Given the description of an element on the screen output the (x, y) to click on. 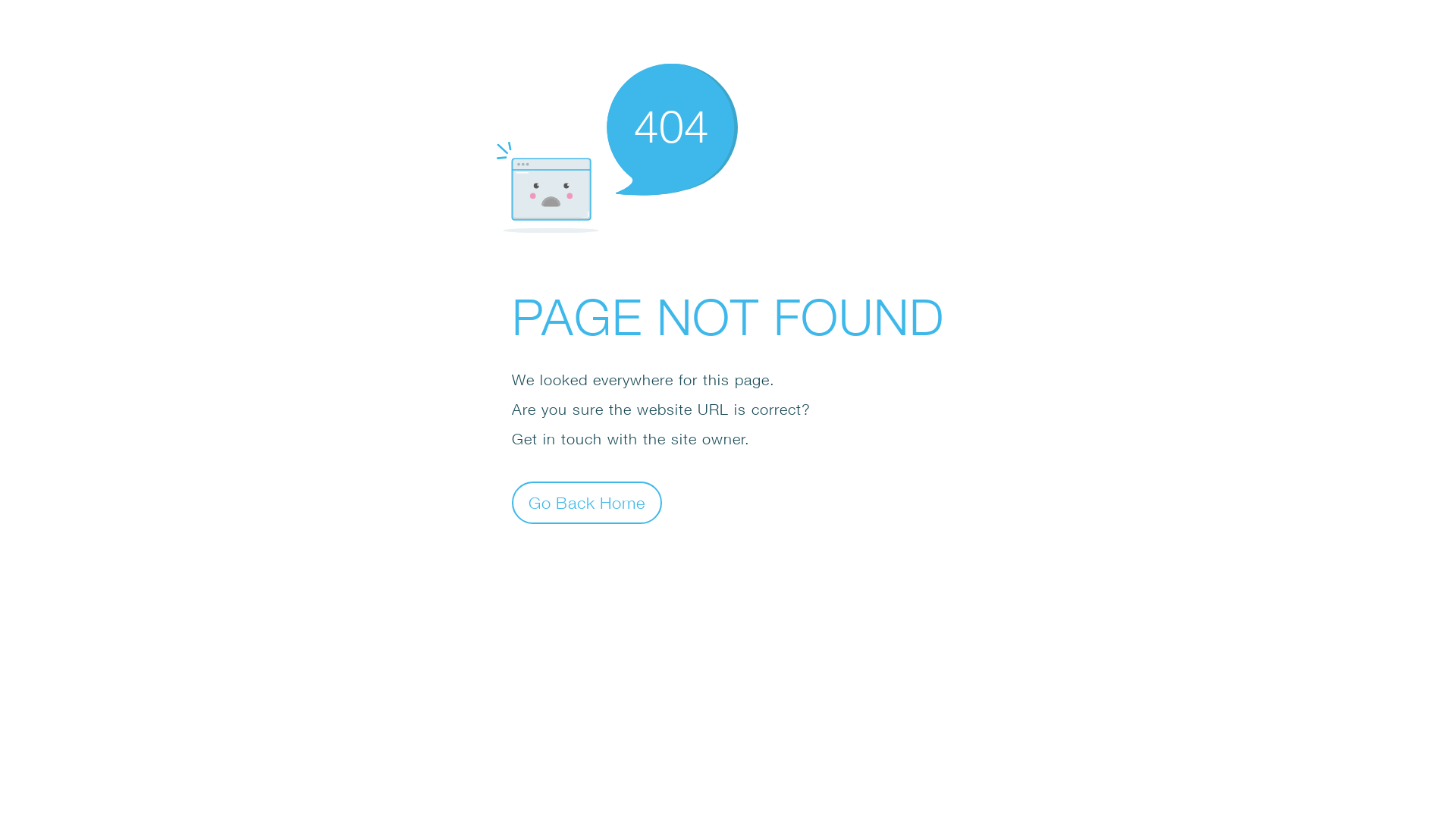
Go Back Home Element type: text (586, 502)
